Given the description of an element on the screen output the (x, y) to click on. 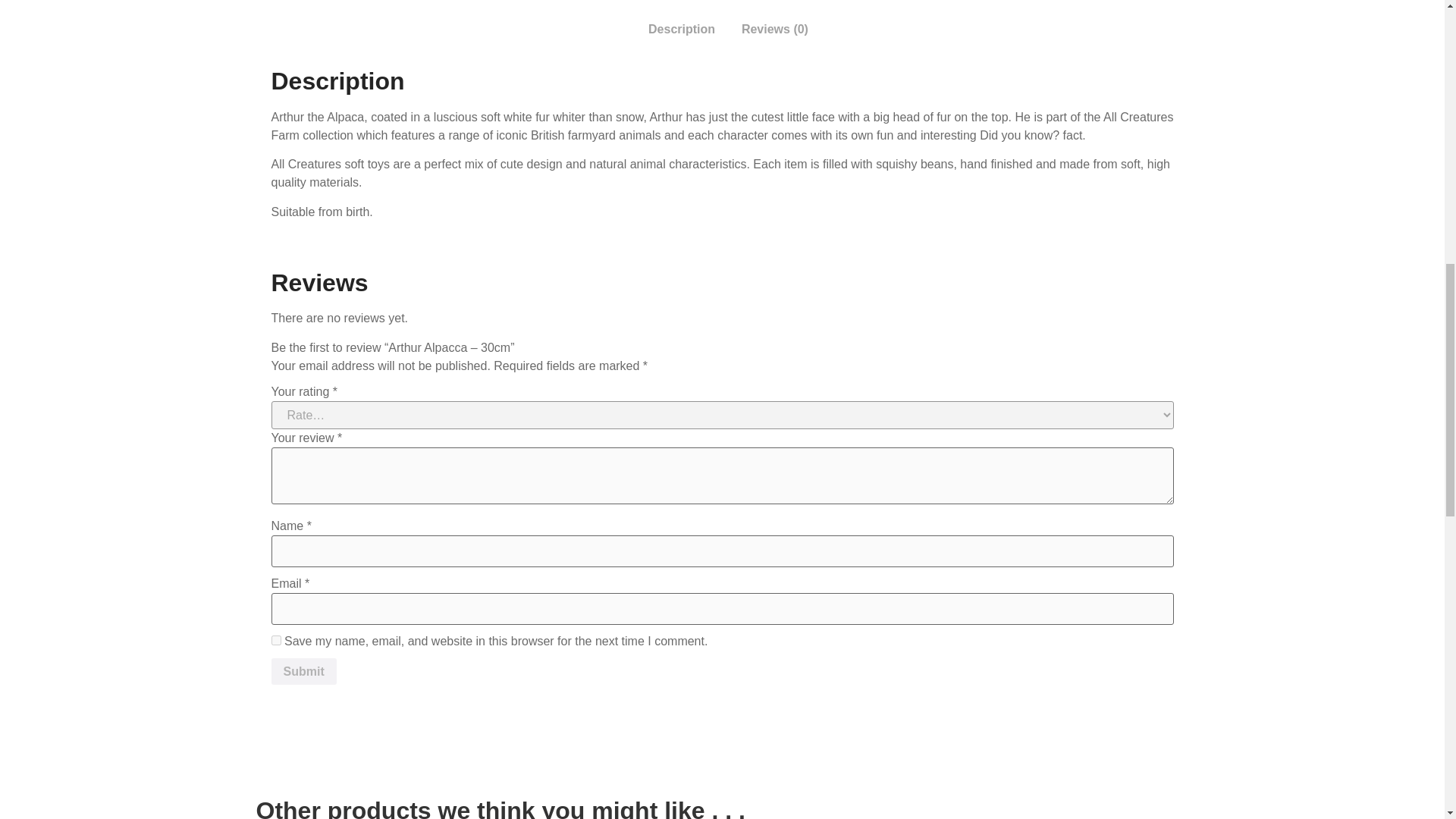
yes (275, 640)
Submit (303, 671)
